Given the description of an element on the screen output the (x, y) to click on. 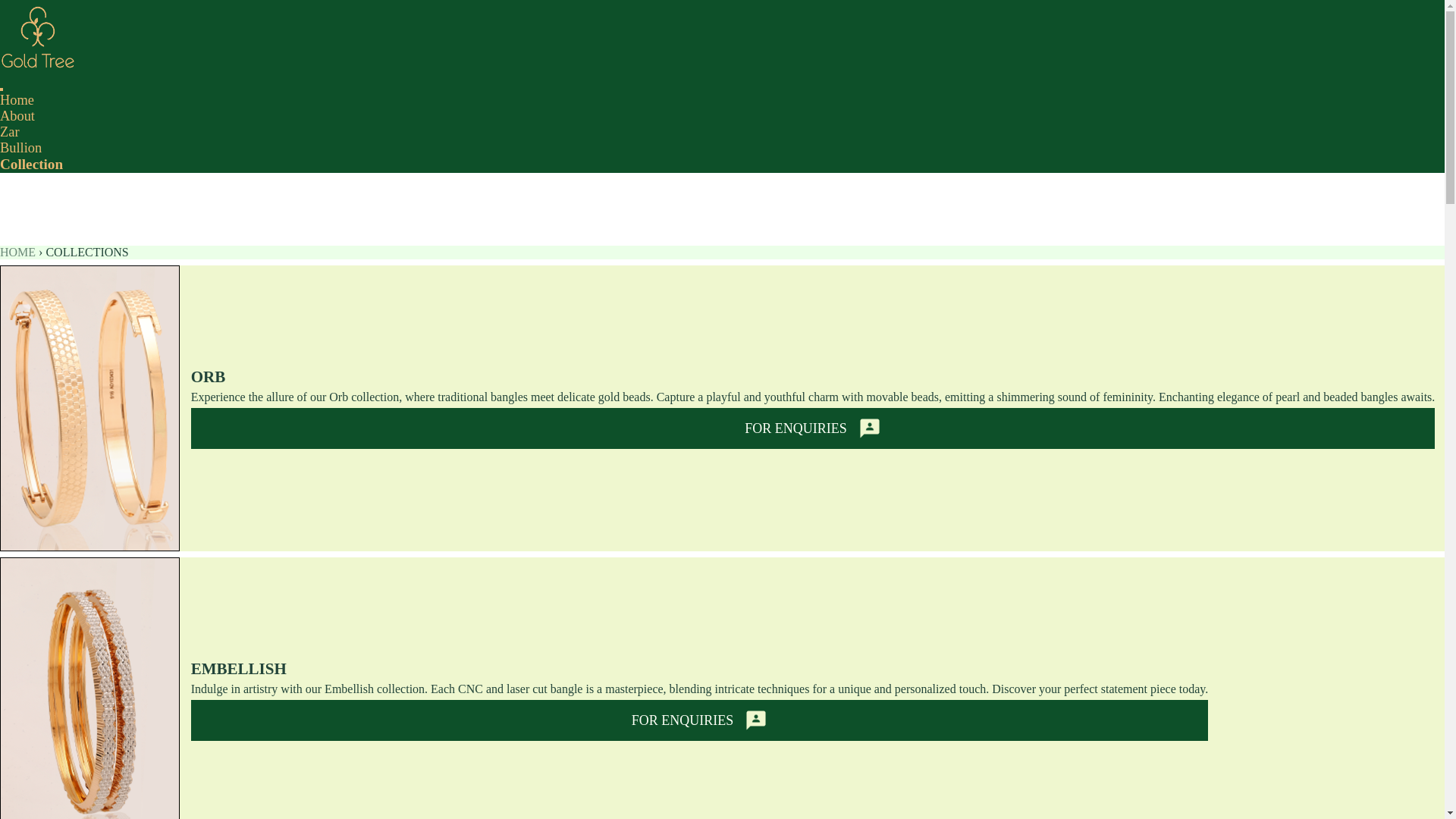
FOR ENQUIRIES (812, 427)
Bullion (21, 147)
Collection (31, 163)
About (17, 115)
FOR ENQUIRIES (699, 720)
HOME (17, 251)
Home (16, 99)
Zar (10, 131)
